Given the description of an element on the screen output the (x, y) to click on. 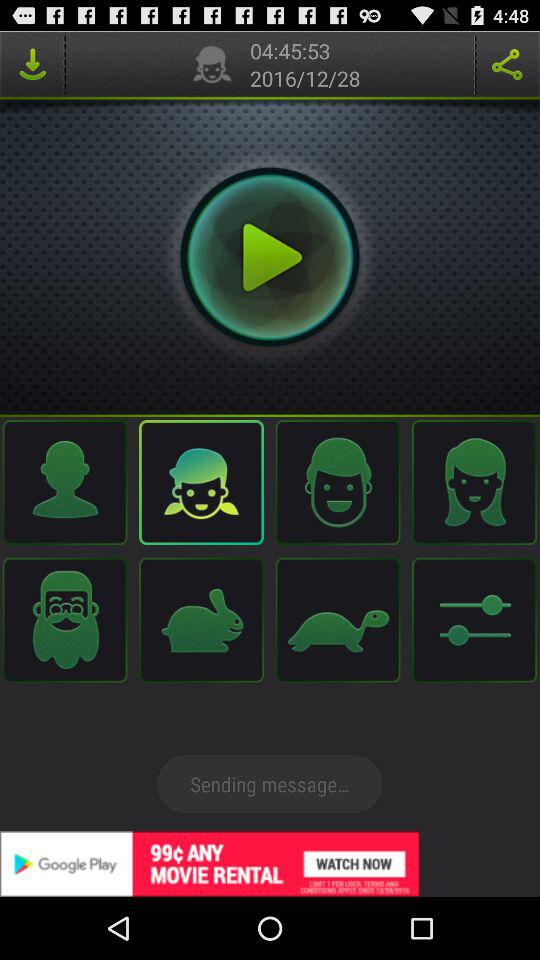
click save icon (32, 64)
